Given the description of an element on the screen output the (x, y) to click on. 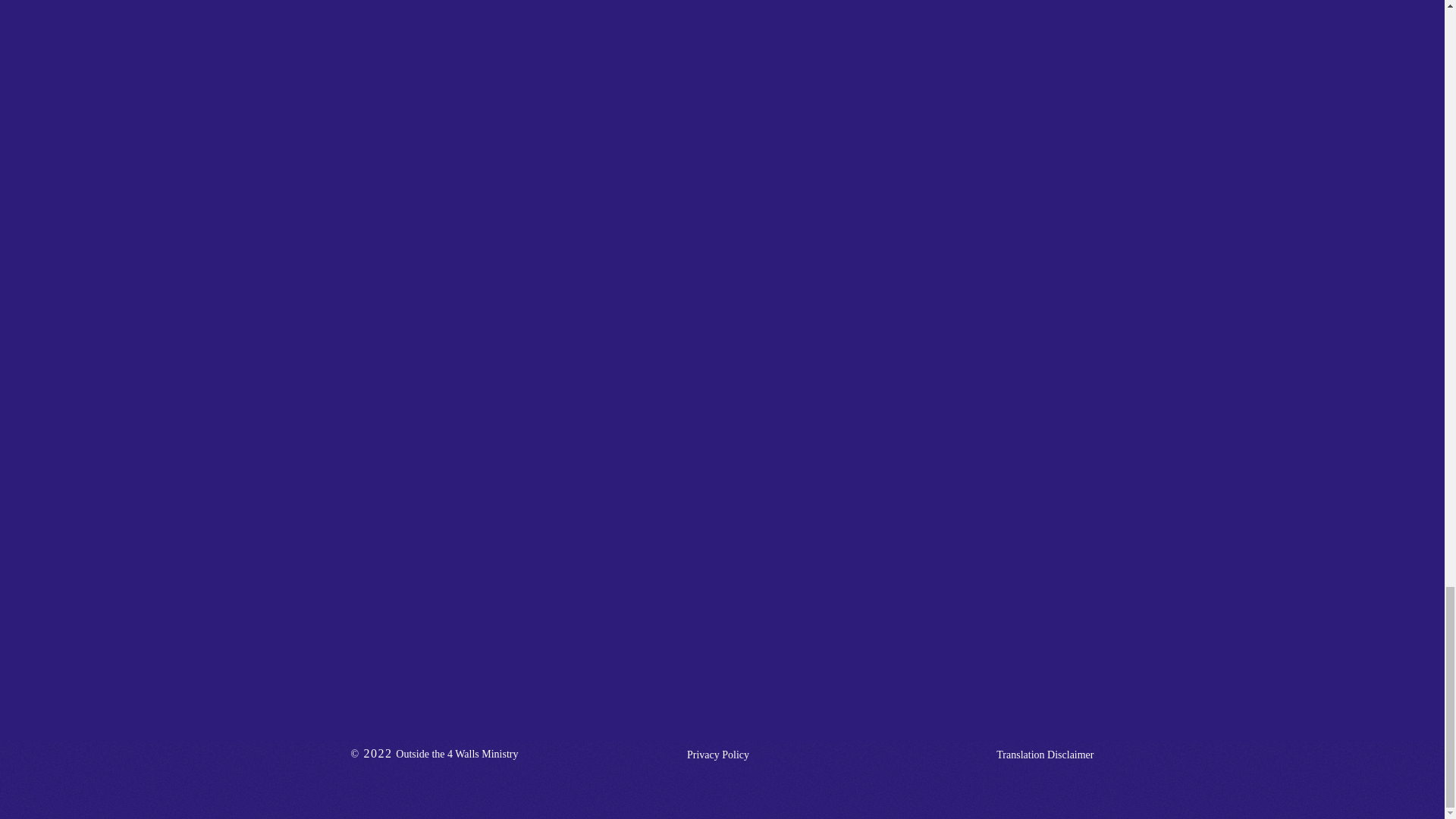
Translation Disclaimer (986, 754)
Privacy Policy (718, 754)
